Given the description of an element on the screen output the (x, y) to click on. 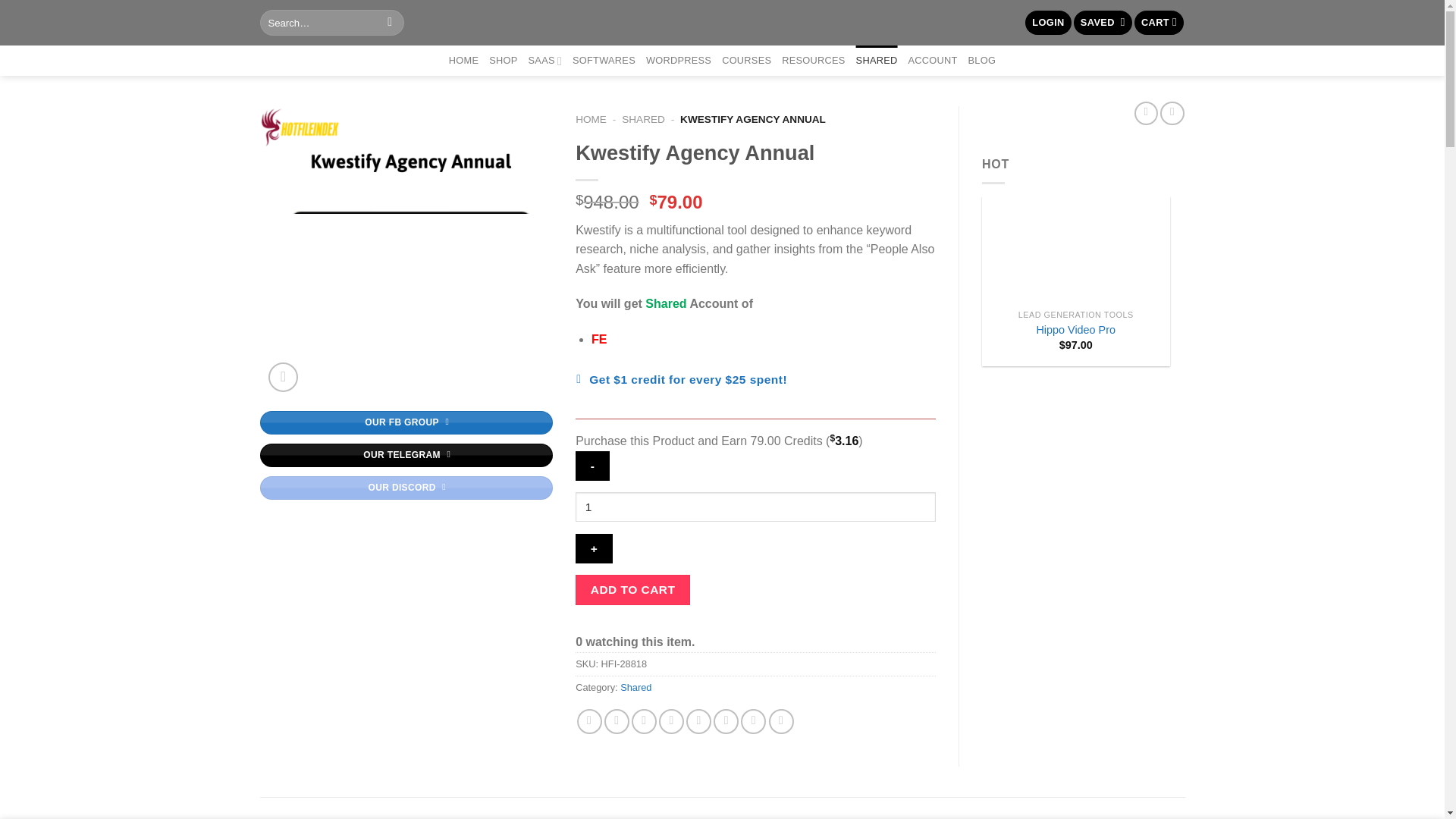
RESOURCES (812, 60)
Share on LinkedIn (725, 721)
SOFTWARES (603, 60)
Share on Facebook (589, 721)
LOGIN (1047, 23)
Share on Telegram (780, 721)
Email to a Friend (643, 721)
SAVED (1103, 23)
Login (1047, 23)
- (592, 465)
SAAS (545, 60)
1 (755, 506)
Cart (1158, 23)
Share on Twitter (616, 721)
HOME (463, 60)
